Given the description of an element on the screen output the (x, y) to click on. 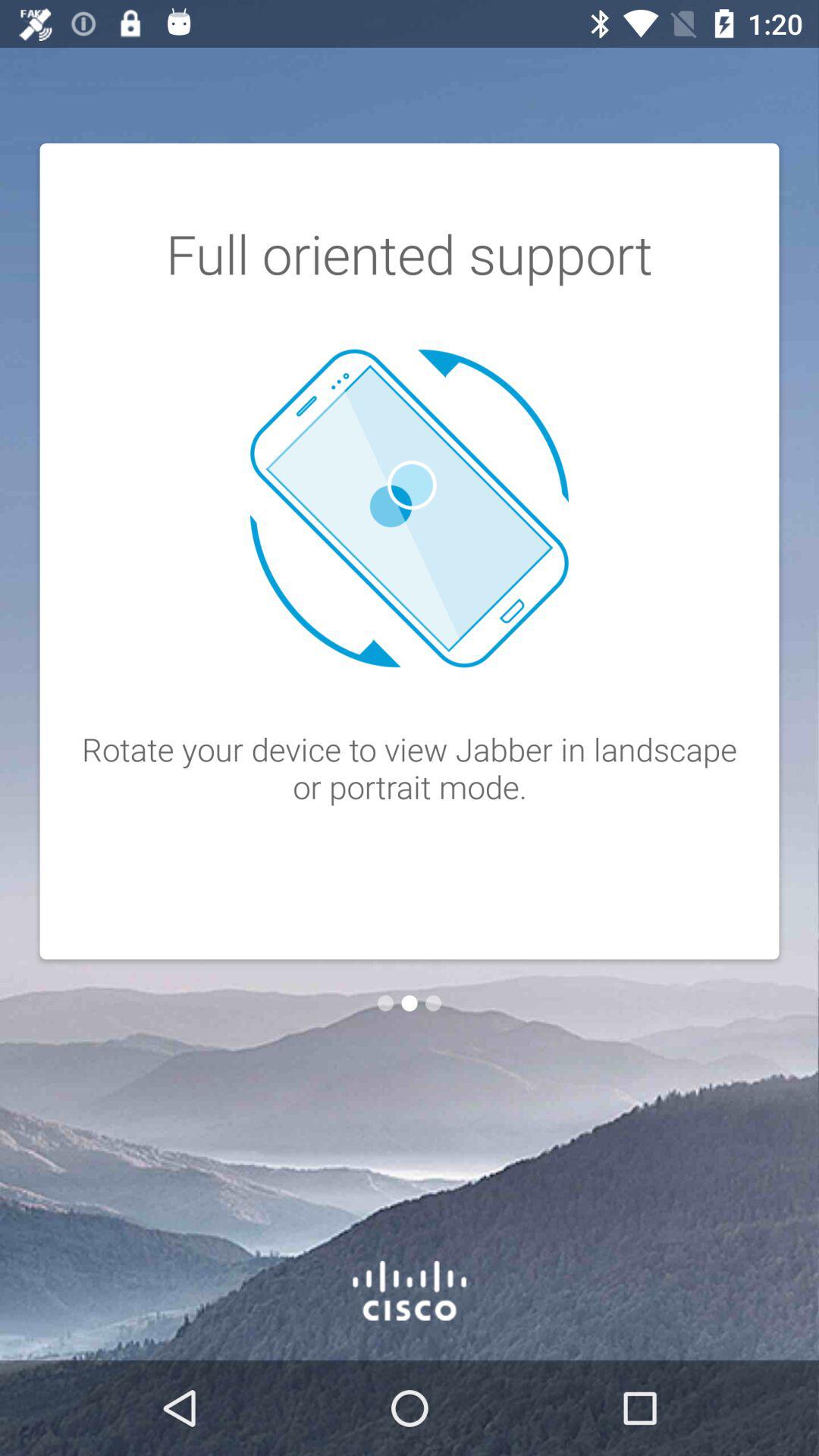
choose the item below rotate your device (385, 1003)
